Given the description of an element on the screen output the (x, y) to click on. 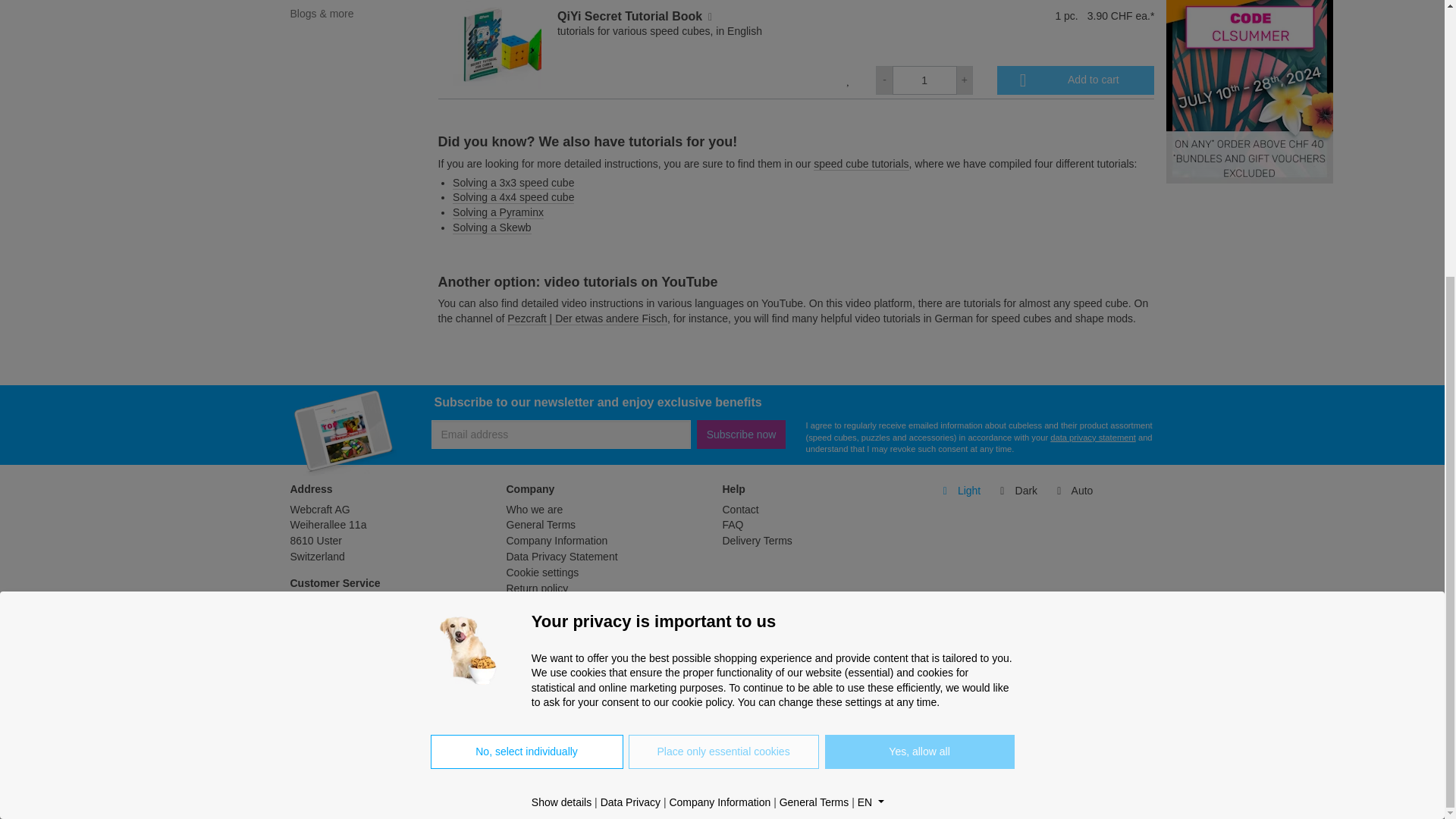
1 (924, 80)
